Given the description of an element on the screen output the (x, y) to click on. 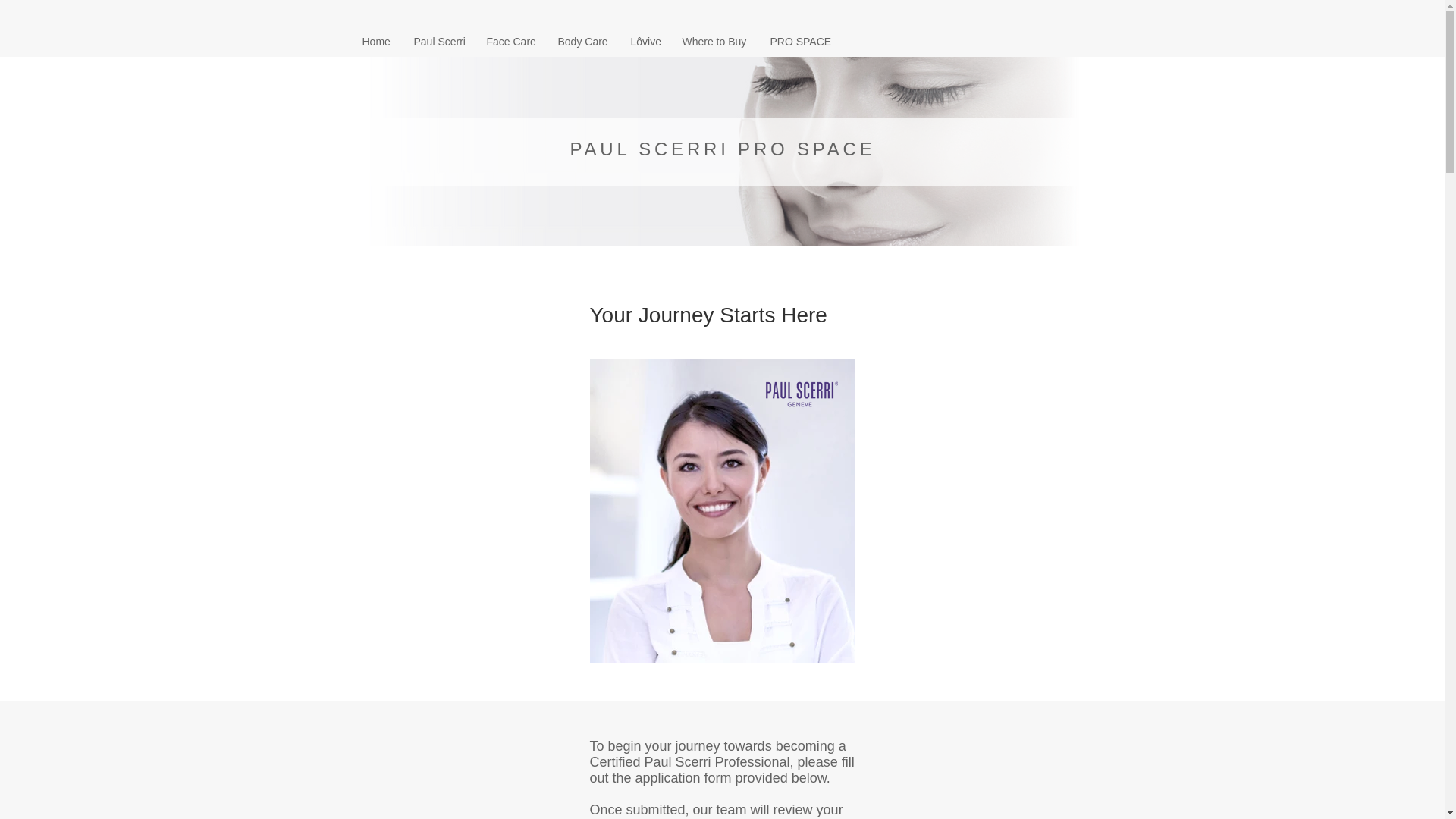
Where to Buy (713, 41)
Face Care (510, 41)
Home (375, 41)
Body Care (582, 41)
PRO SPACE (798, 41)
Paul Scerri (437, 41)
